Given the description of an element on the screen output the (x, y) to click on. 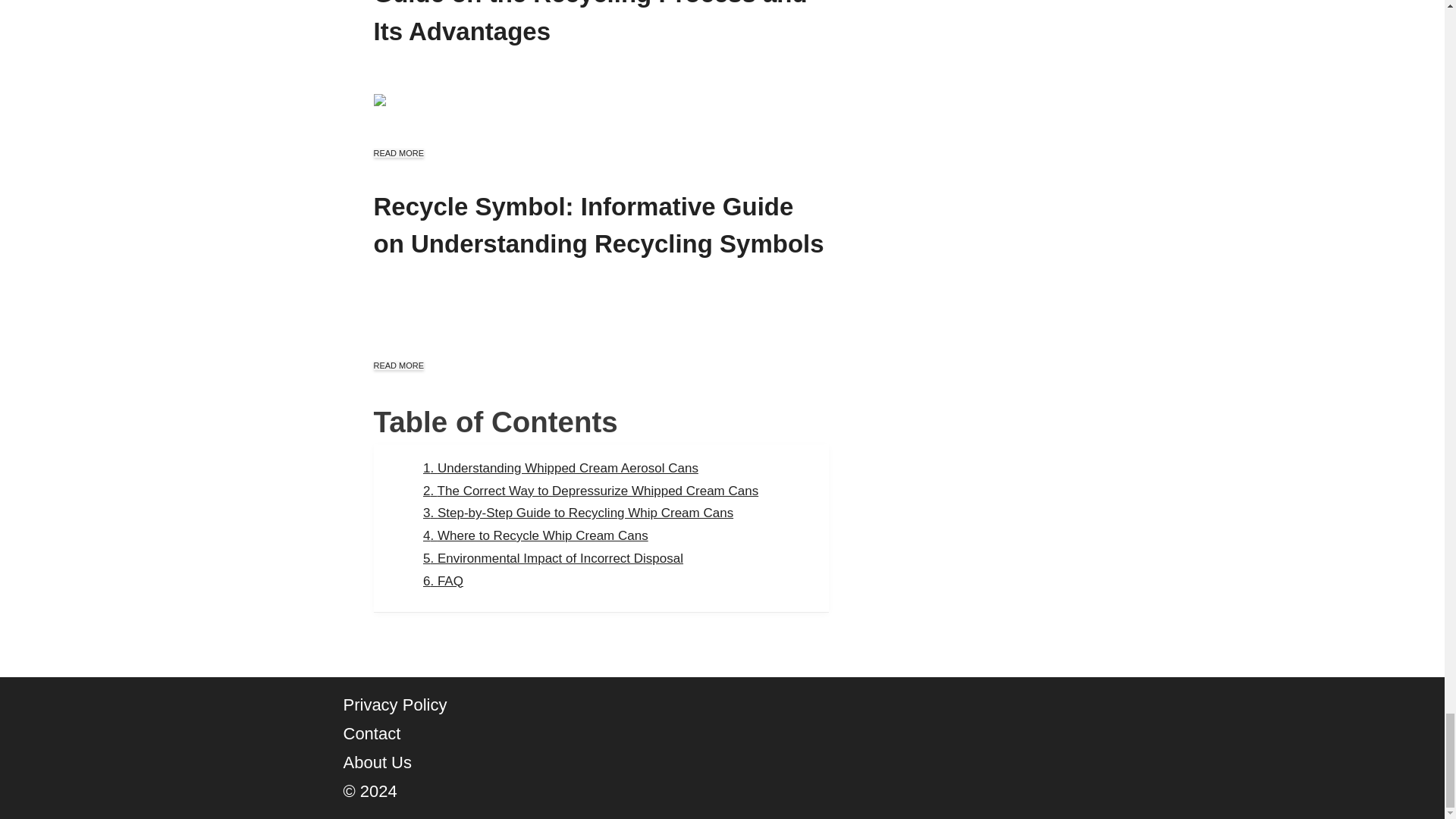
Understanding Whipped Cream Aerosol Cans (560, 468)
READ MORE (397, 365)
The Correct Way to Depressurize Whipped Cream Cans (590, 490)
Step-by-Step Guide to Recycling Whip Cream Cans (578, 513)
FAQ (443, 580)
Where to Recycle Whip Cream Cans (535, 535)
Environmental Impact of Incorrect Disposal (552, 558)
READ MORE (397, 153)
